Given the description of an element on the screen output the (x, y) to click on. 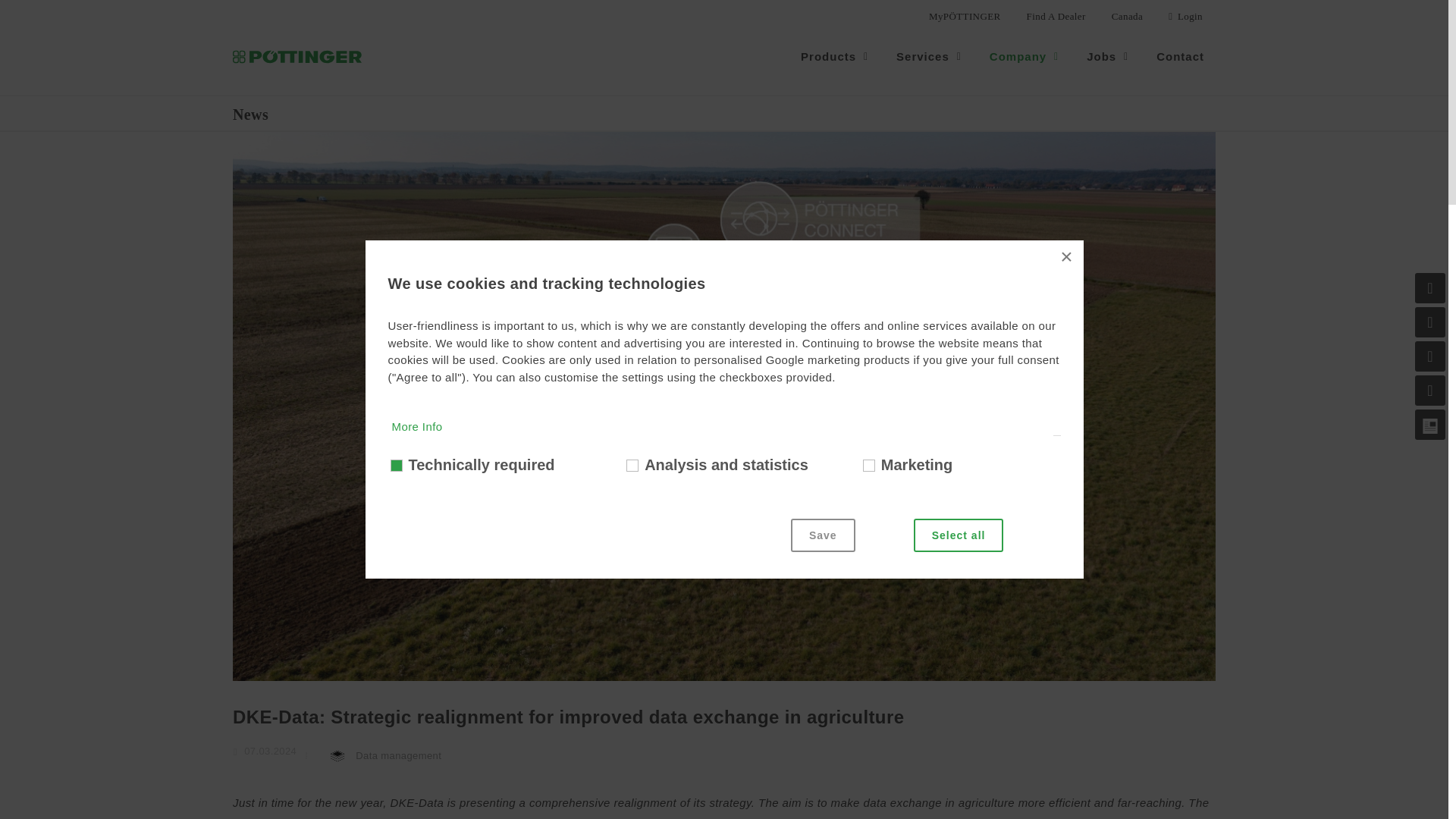
Products (836, 56)
Find A Dealer (1056, 16)
More Info (437, 755)
Canada (1127, 16)
Select all (959, 535)
More Info (437, 574)
Save (823, 535)
Login (1185, 16)
More Info (416, 426)
